Given the description of an element on the screen output the (x, y) to click on. 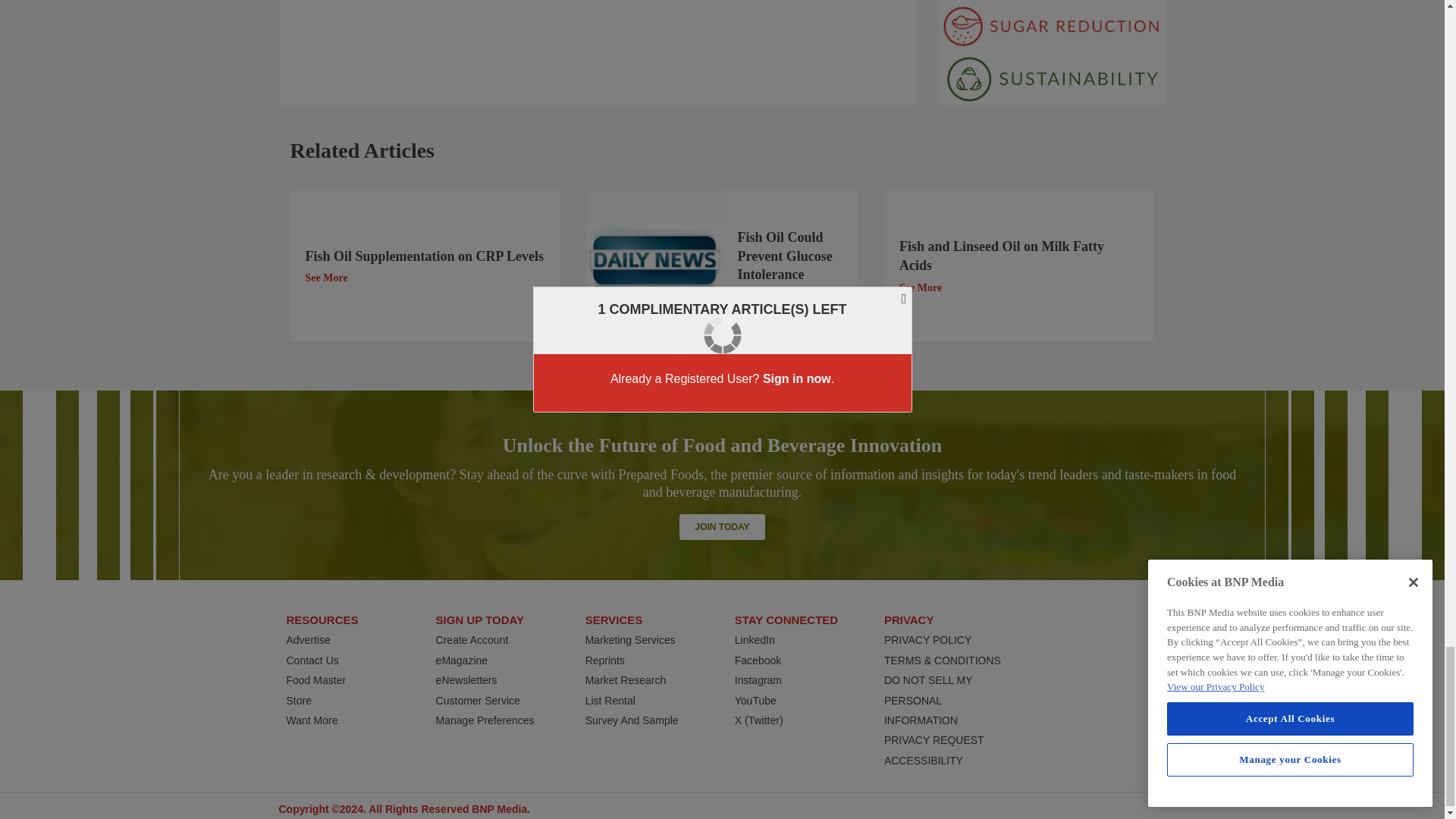
news (654, 266)
